Given the description of an element on the screen output the (x, y) to click on. 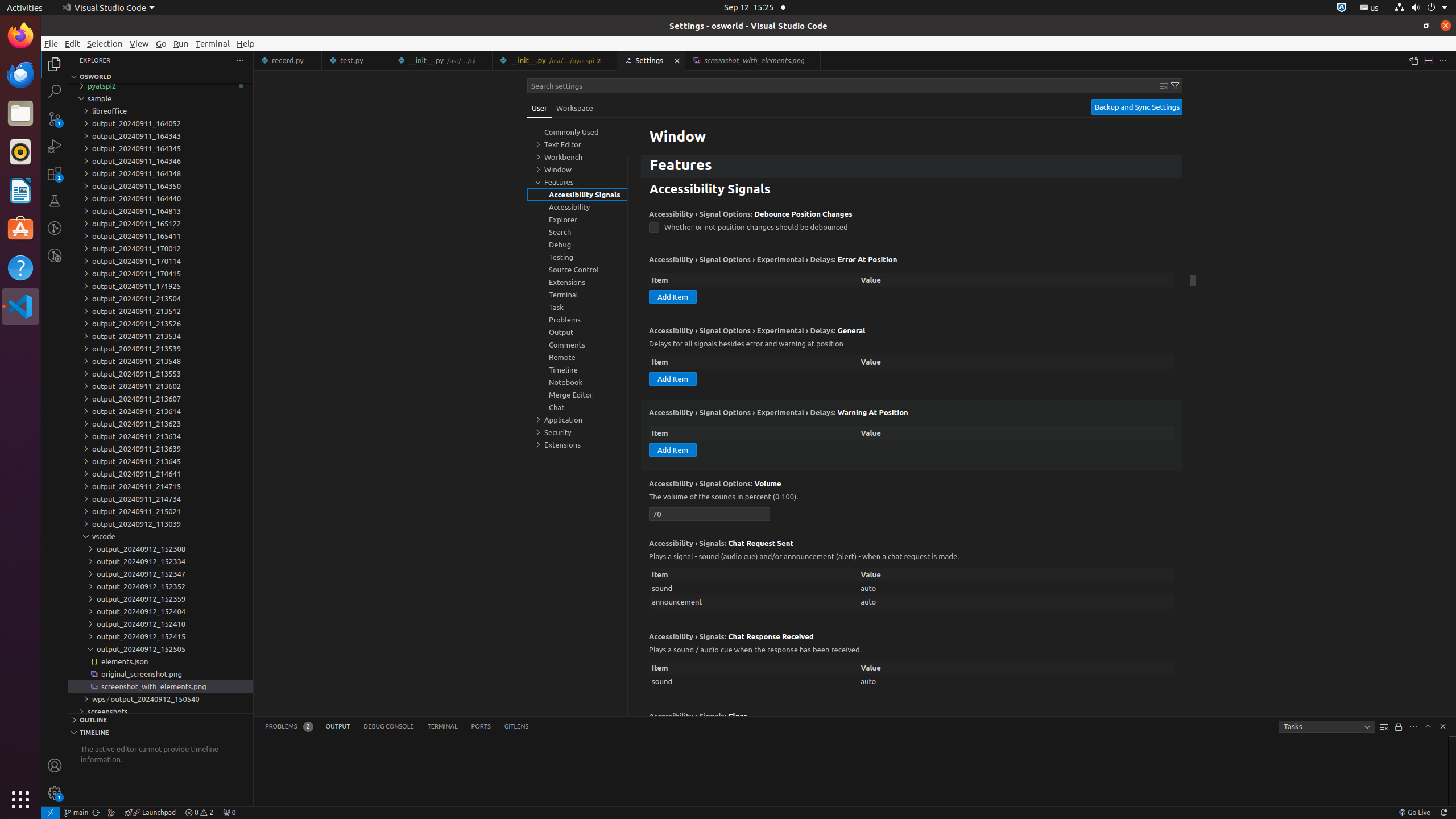
output_20240911_213634 Element type: tree-item (160, 435)
Clear Settings Search Input Element type: push-button (1163, 85)
Output (Ctrl+K Ctrl+H) Element type: page-tab (337, 726)
record.py Element type: page-tab (287, 60)
Text Editor, group Element type: tree-item (577, 144)
